Given the description of an element on the screen output the (x, y) to click on. 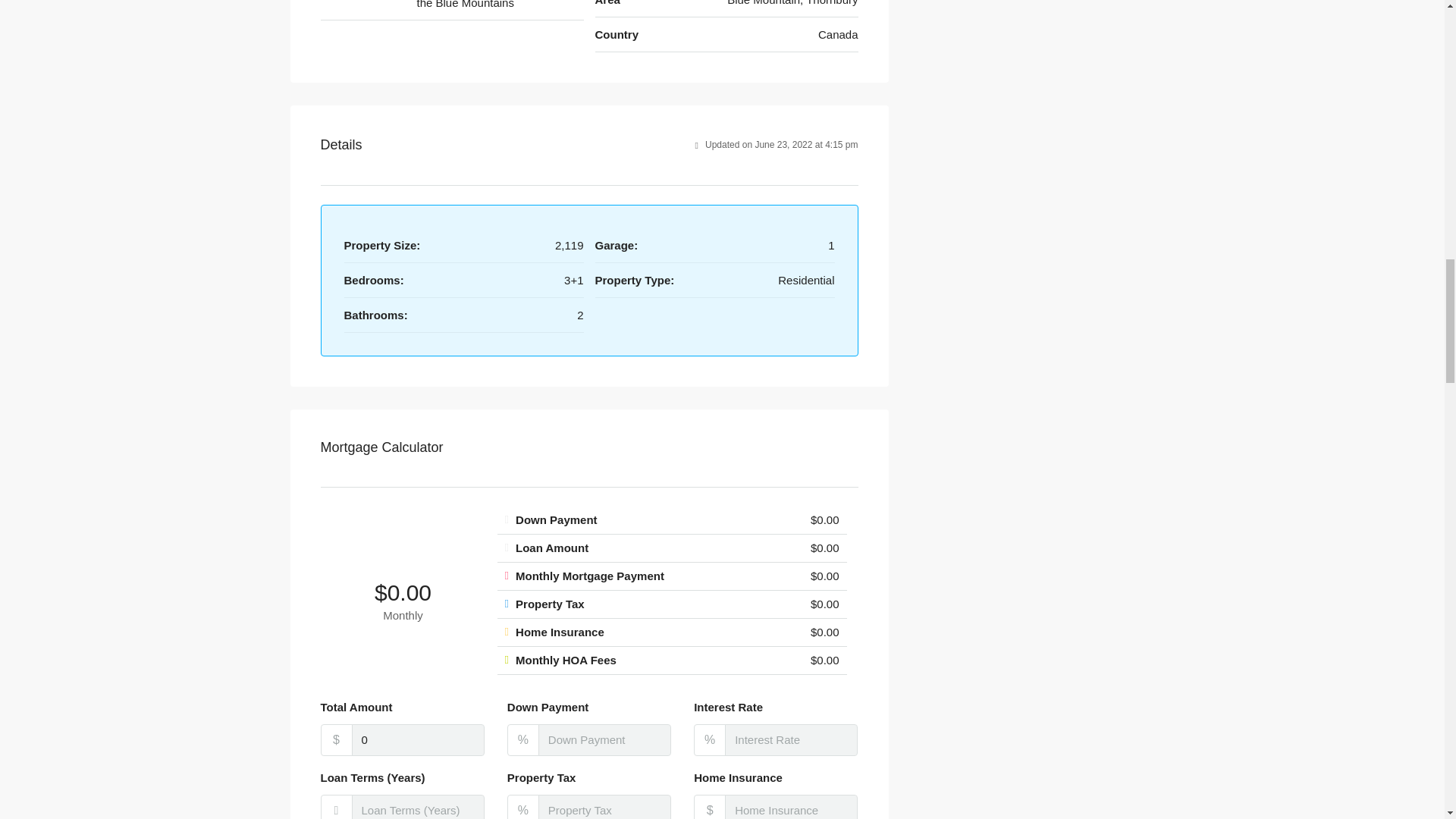
0 (418, 739)
